Given the description of an element on the screen output the (x, y) to click on. 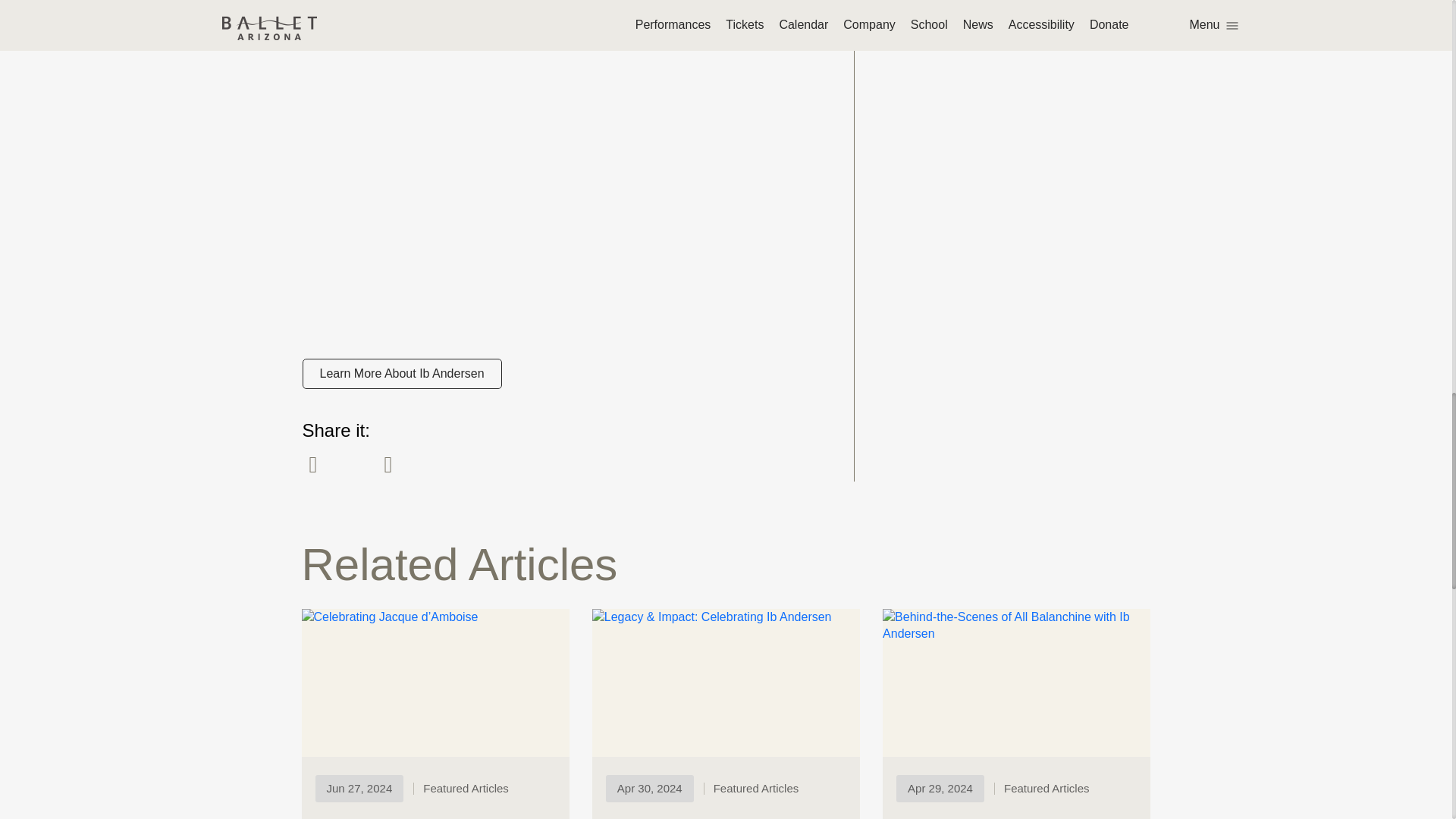
Learn More About Ib Andersen (400, 373)
